Given the description of an element on the screen output the (x, y) to click on. 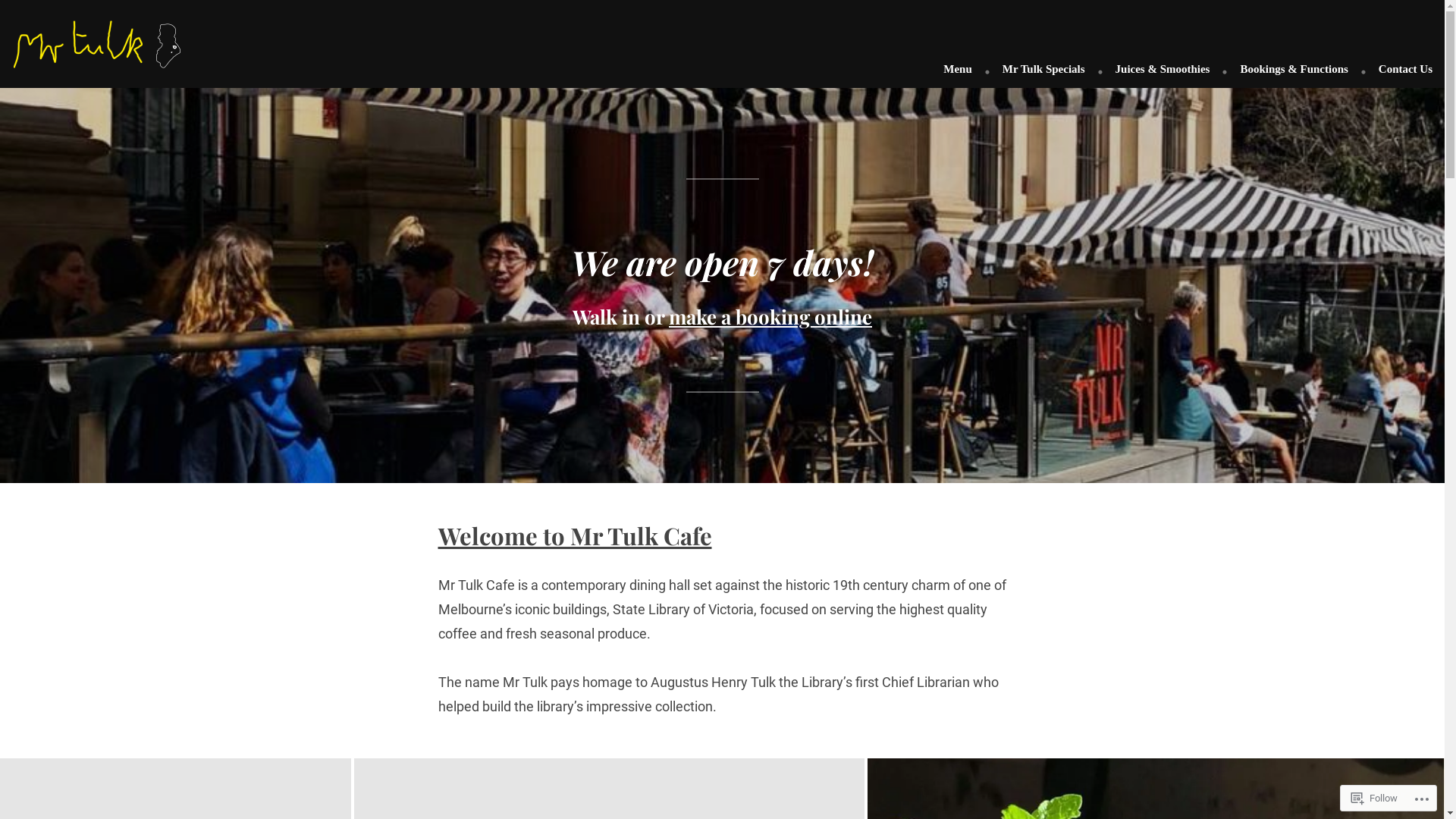
Juices & Smoothies Element type: text (1162, 70)
Follow Element type: text (1374, 797)
Mr Tulk Specials Element type: text (1043, 70)
Menu Element type: text (963, 70)
Contact Us Element type: text (1399, 70)
make a booking online Element type: text (770, 316)
Bookings & Functions Element type: text (1293, 70)
